Given the description of an element on the screen output the (x, y) to click on. 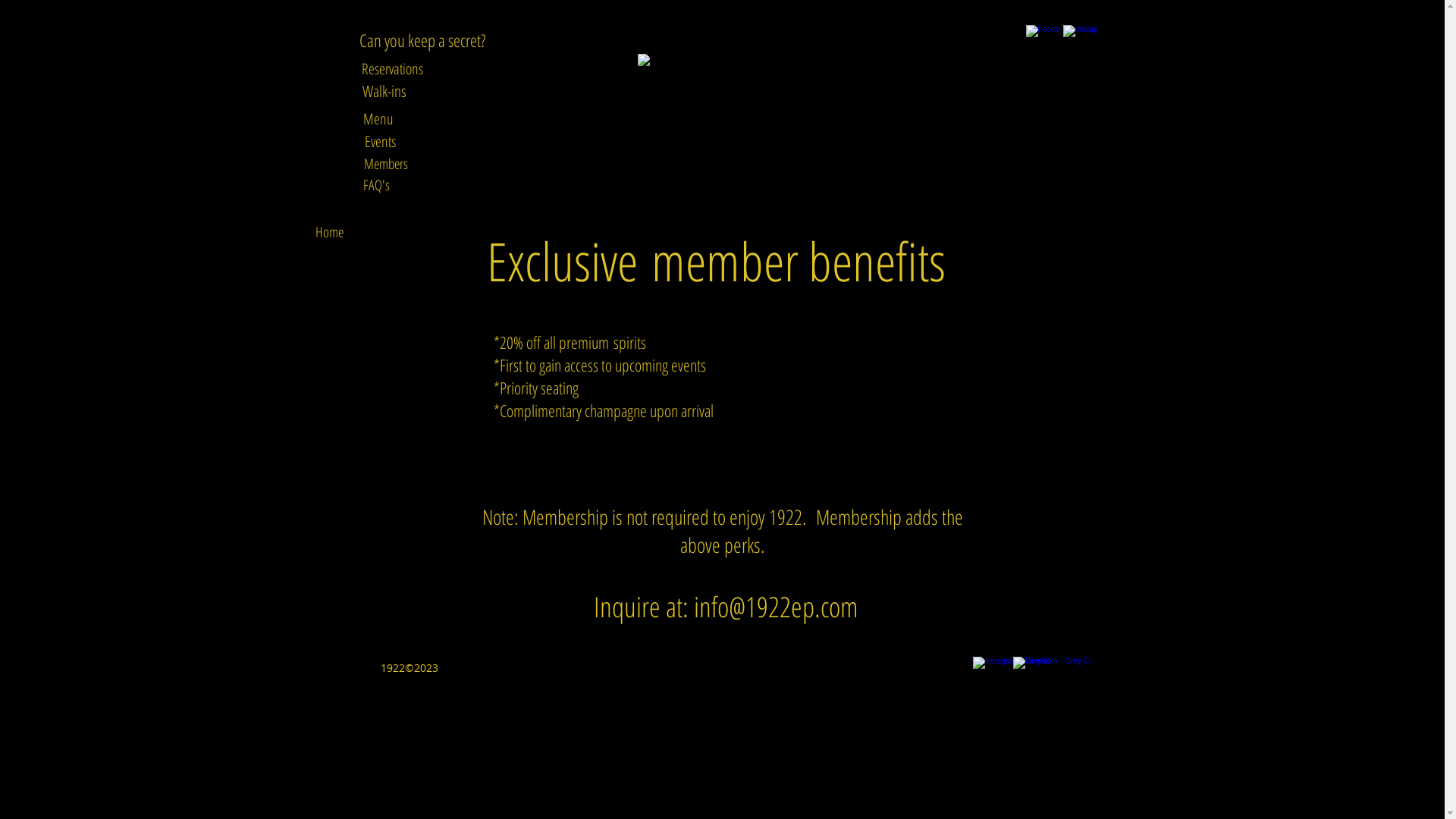
Members Element type: text (386, 163)
Reservations Element type: text (392, 68)
FAQ's Element type: text (375, 184)
Home Element type: text (328, 231)
info@1922ep.com Element type: text (775, 605)
Events Element type: text (379, 141)
Menu Element type: text (378, 118)
Walk-ins Element type: text (383, 91)
